Given the description of an element on the screen output the (x, y) to click on. 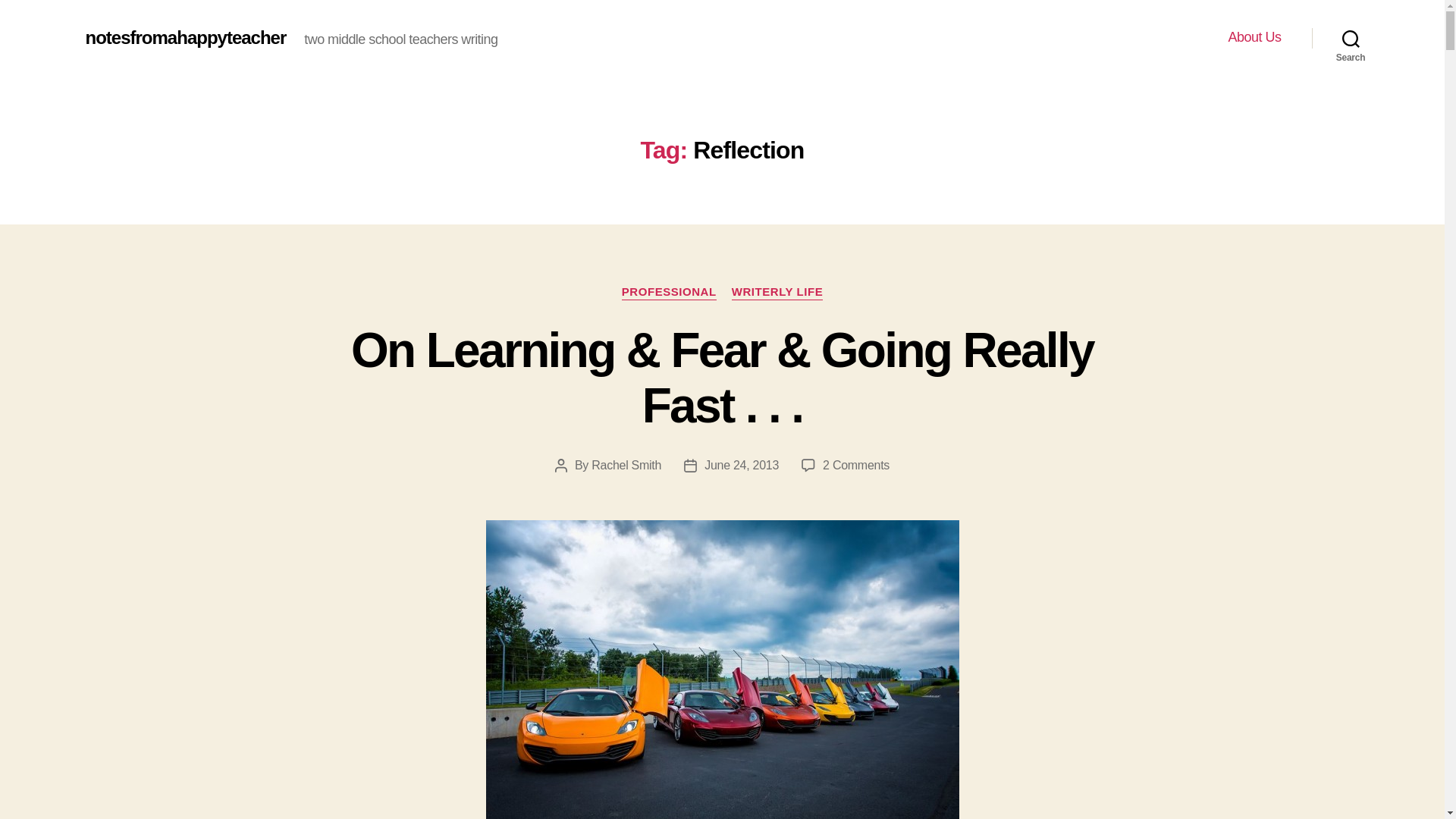
WRITERLY LIFE (778, 292)
About Us (1254, 37)
Rachel Smith (626, 464)
June 24, 2013 (741, 464)
PROFESSIONAL (668, 292)
notesfromahappyteacher (184, 37)
Search (1350, 37)
